Given the description of an element on the screen output the (x, y) to click on. 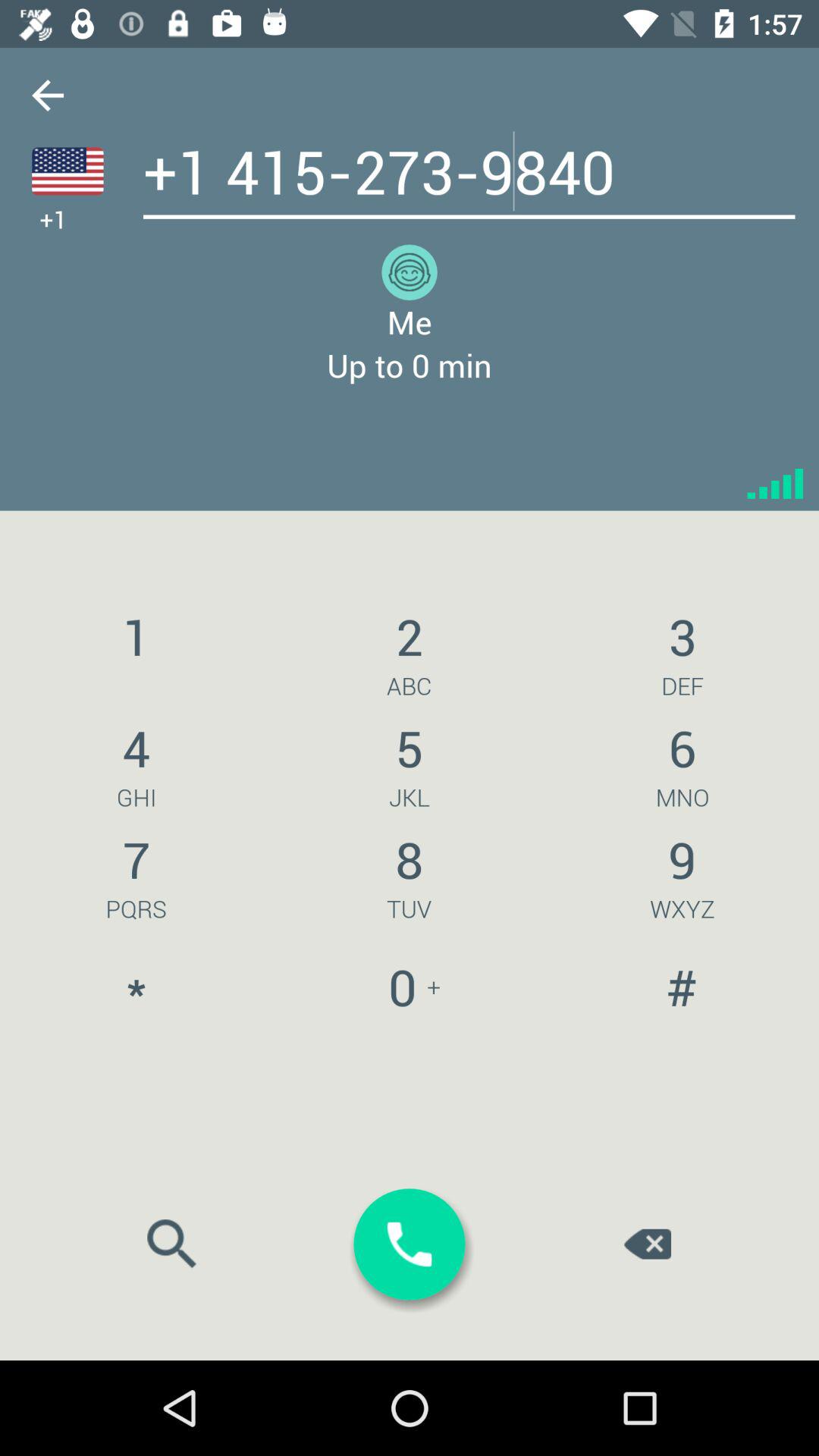
select country (67, 171)
